Given the description of an element on the screen output the (x, y) to click on. 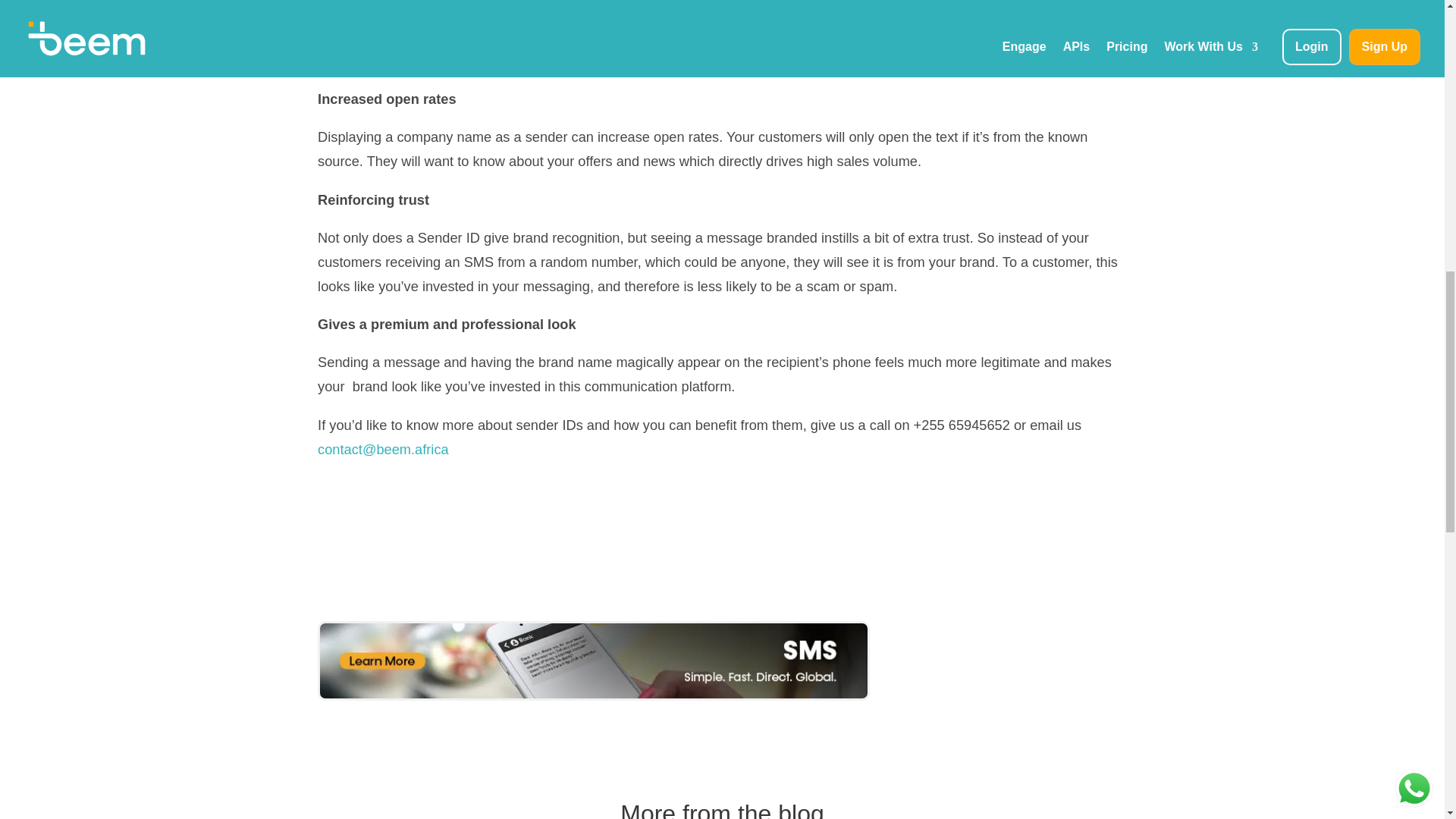
SMS Engage (593, 660)
